Given the description of an element on the screen output the (x, y) to click on. 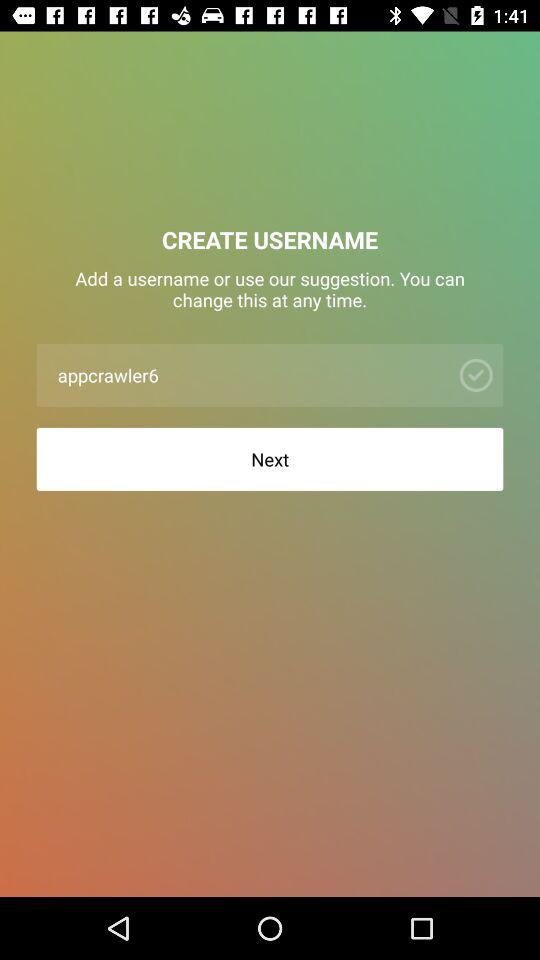
press the app below the add a username (247, 374)
